Given the description of an element on the screen output the (x, y) to click on. 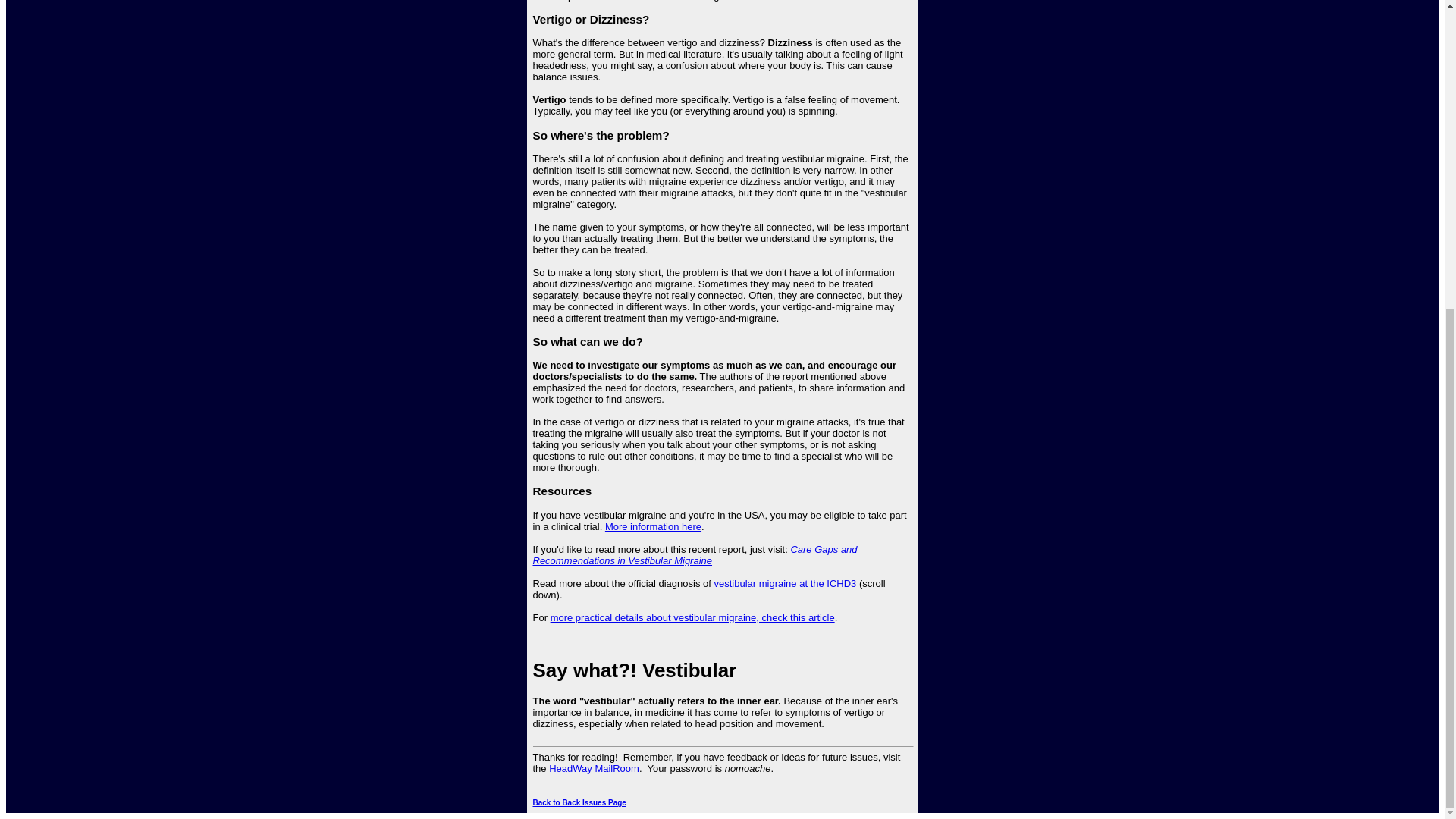
Back to Back Issues Page (579, 802)
vestibular migraine at the ICHD3 (784, 583)
HeadWay MailRoom (593, 767)
More information here (653, 526)
Care Gaps and Recommendations in Vestibular Migraine (694, 554)
